Given the description of an element on the screen output the (x, y) to click on. 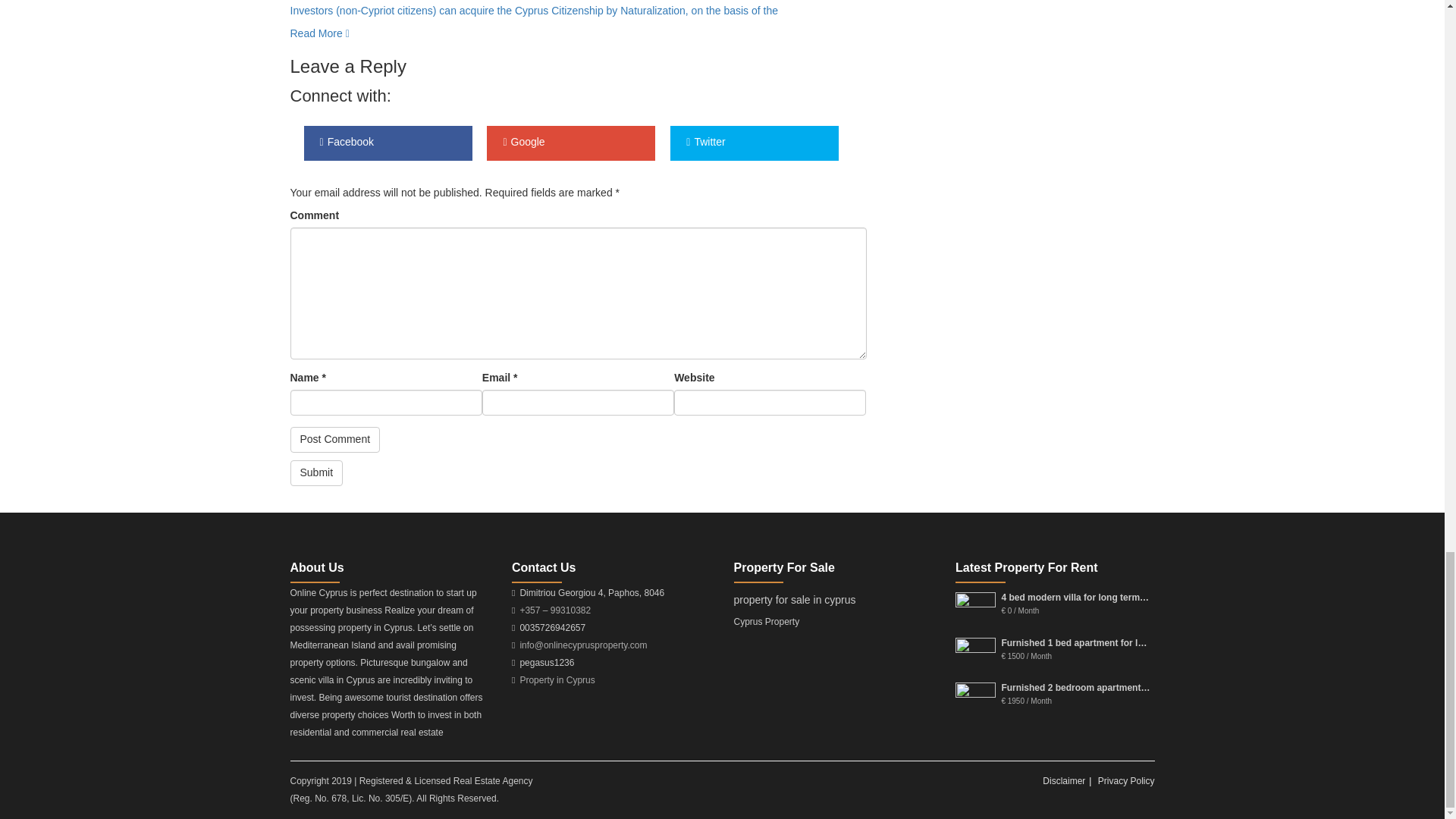
Post Comment (334, 439)
